Given the description of an element on the screen output the (x, y) to click on. 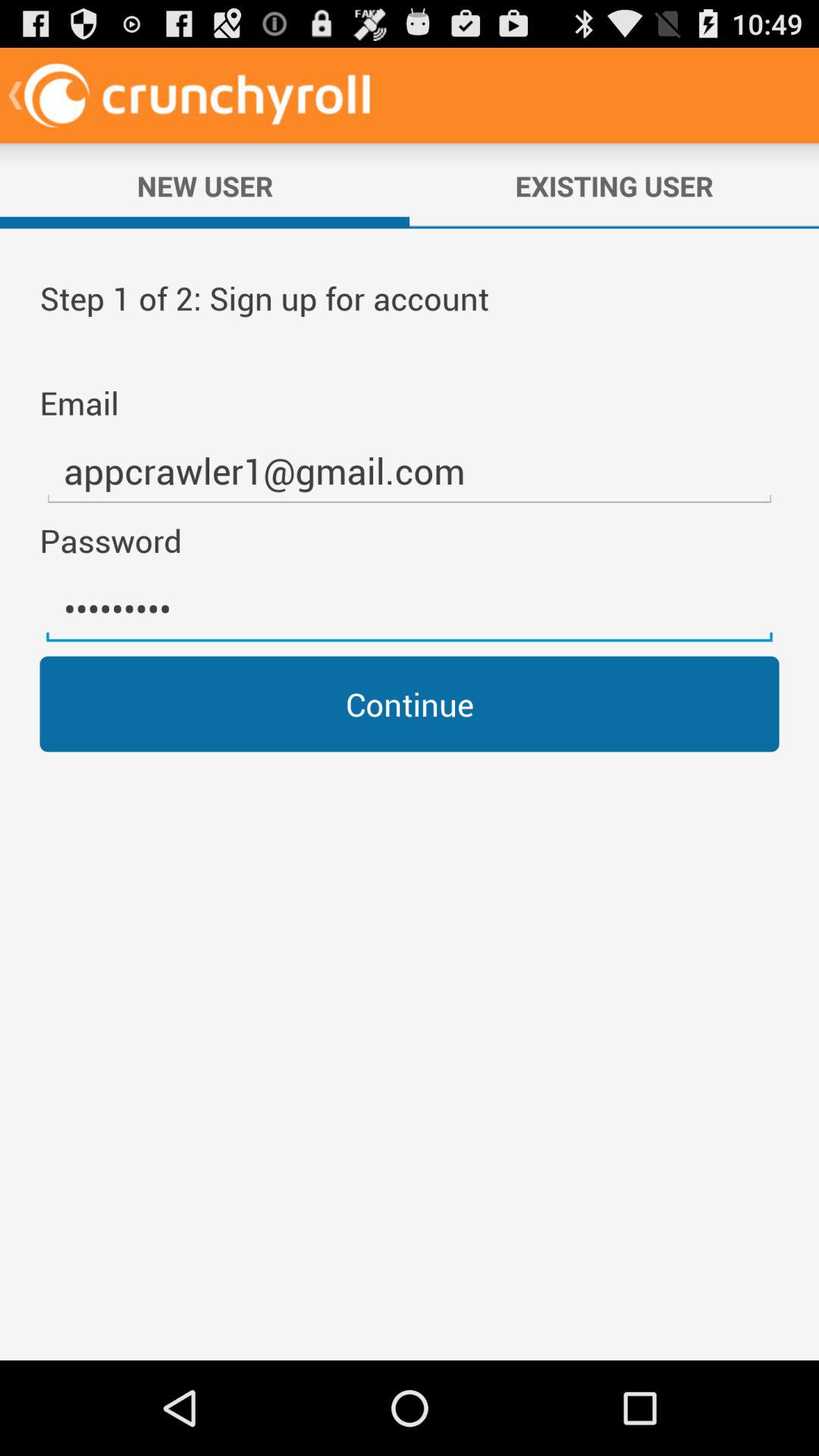
press icon above password item (409, 471)
